Given the description of an element on the screen output the (x, y) to click on. 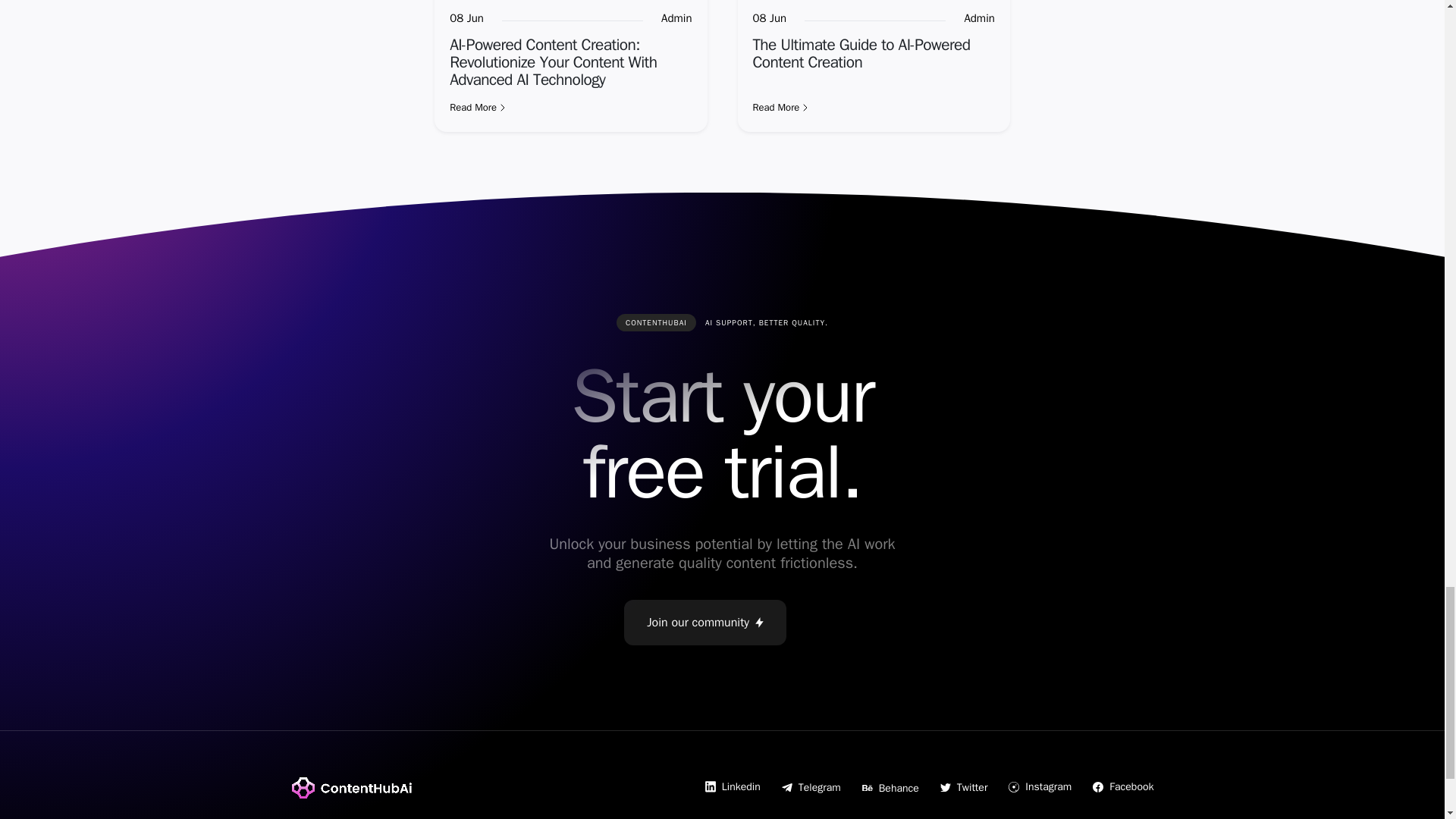
Linkedin (732, 786)
Read More (570, 107)
Join our community (705, 622)
Read More (873, 107)
Admin (676, 18)
The Ultimate Guide to AI-Powered Content Creation (860, 53)
Admin (978, 18)
